Given the description of an element on the screen output the (x, y) to click on. 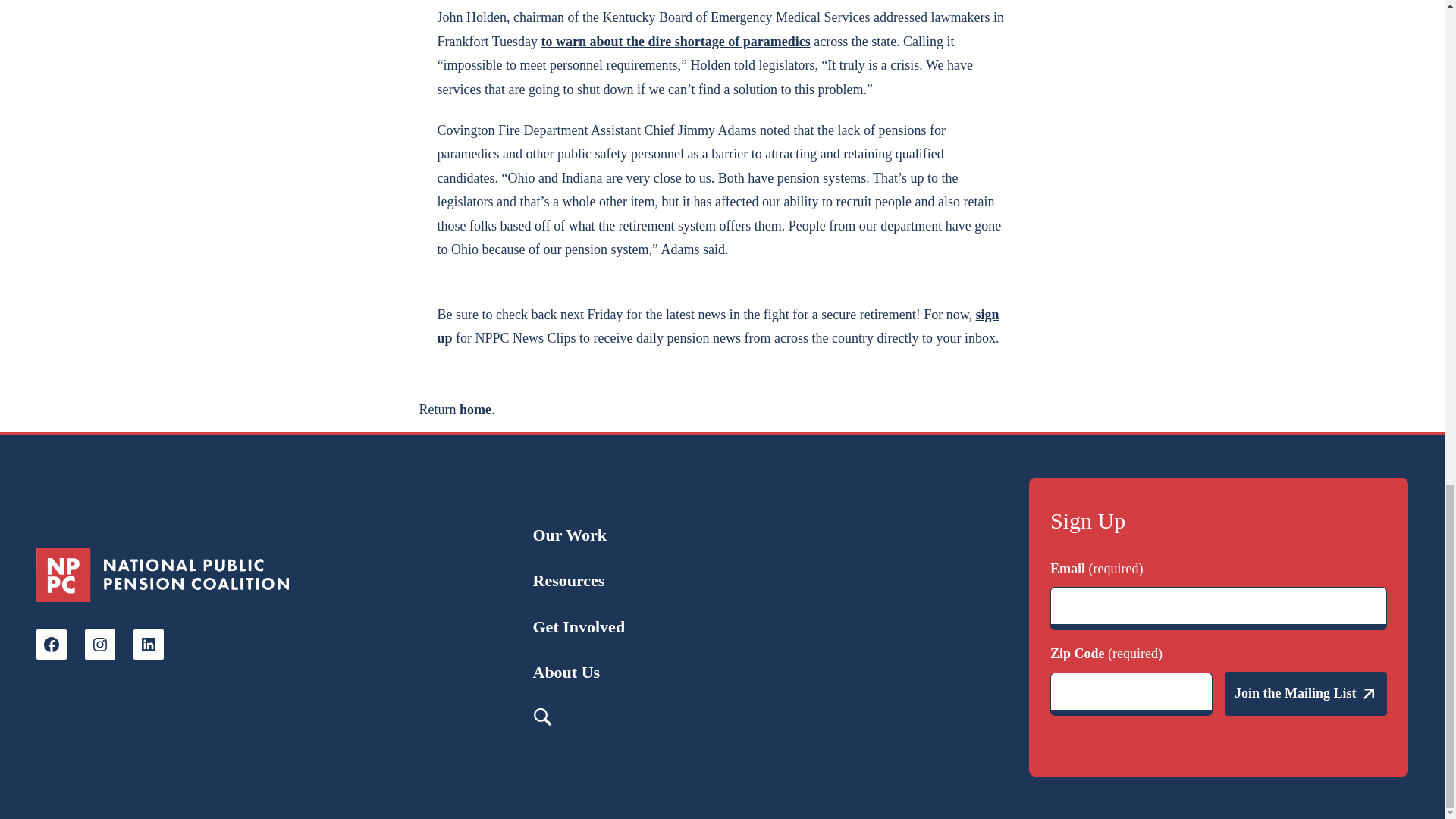
Follow us on Instagram (99, 644)
Join the Mailing List (1305, 693)
sign up (717, 326)
to warn about the dire shortage of paramedics (675, 41)
Follow us on LinkedIn (148, 644)
Follow us on Facebook (51, 644)
home (476, 409)
